Given the description of an element on the screen output the (x, y) to click on. 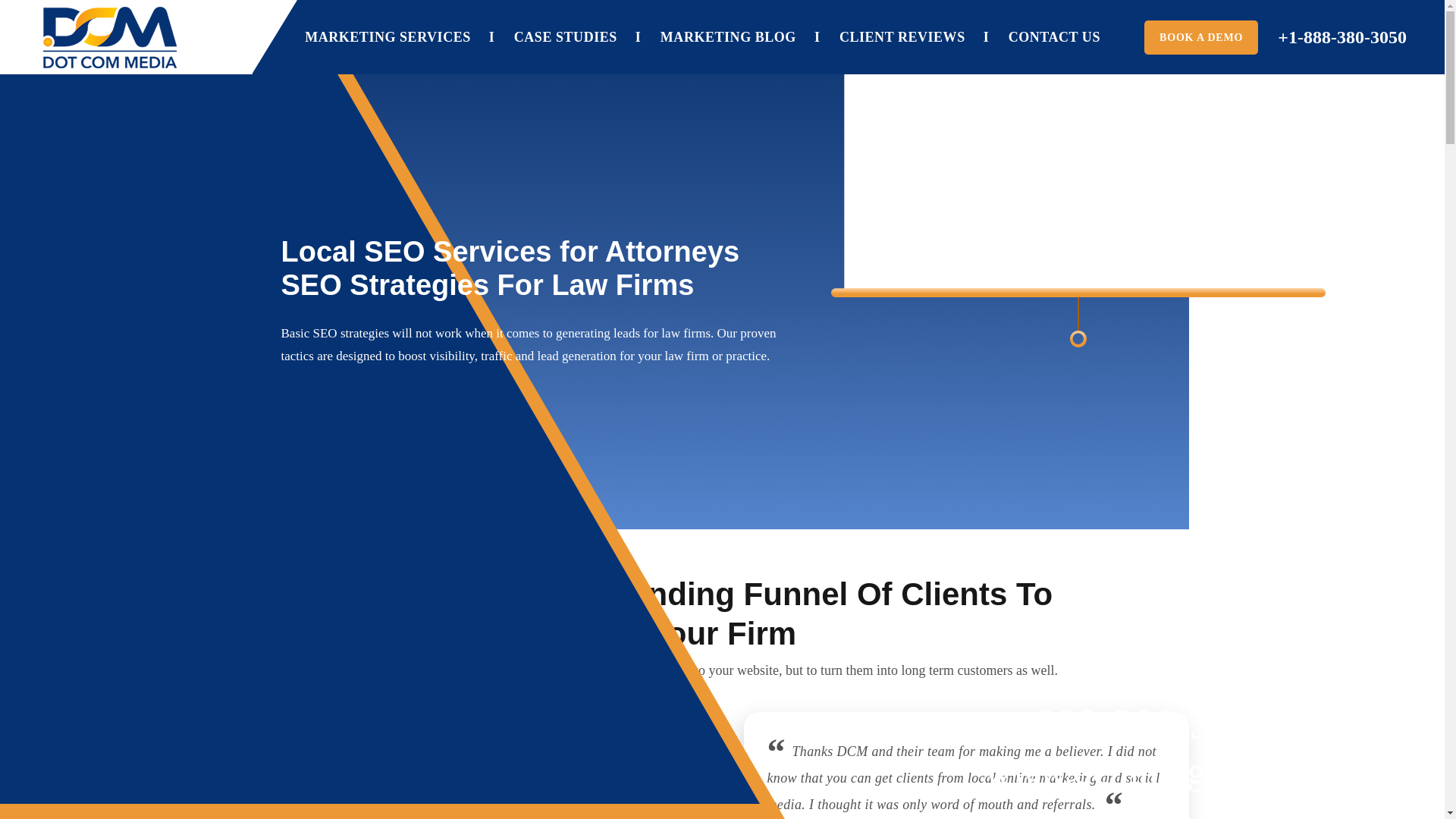
MARKETING SERVICES (387, 37)
BOOK A DEMO (1200, 37)
Attorney Marketing Video (1078, 156)
